Given the description of an element on the screen output the (x, y) to click on. 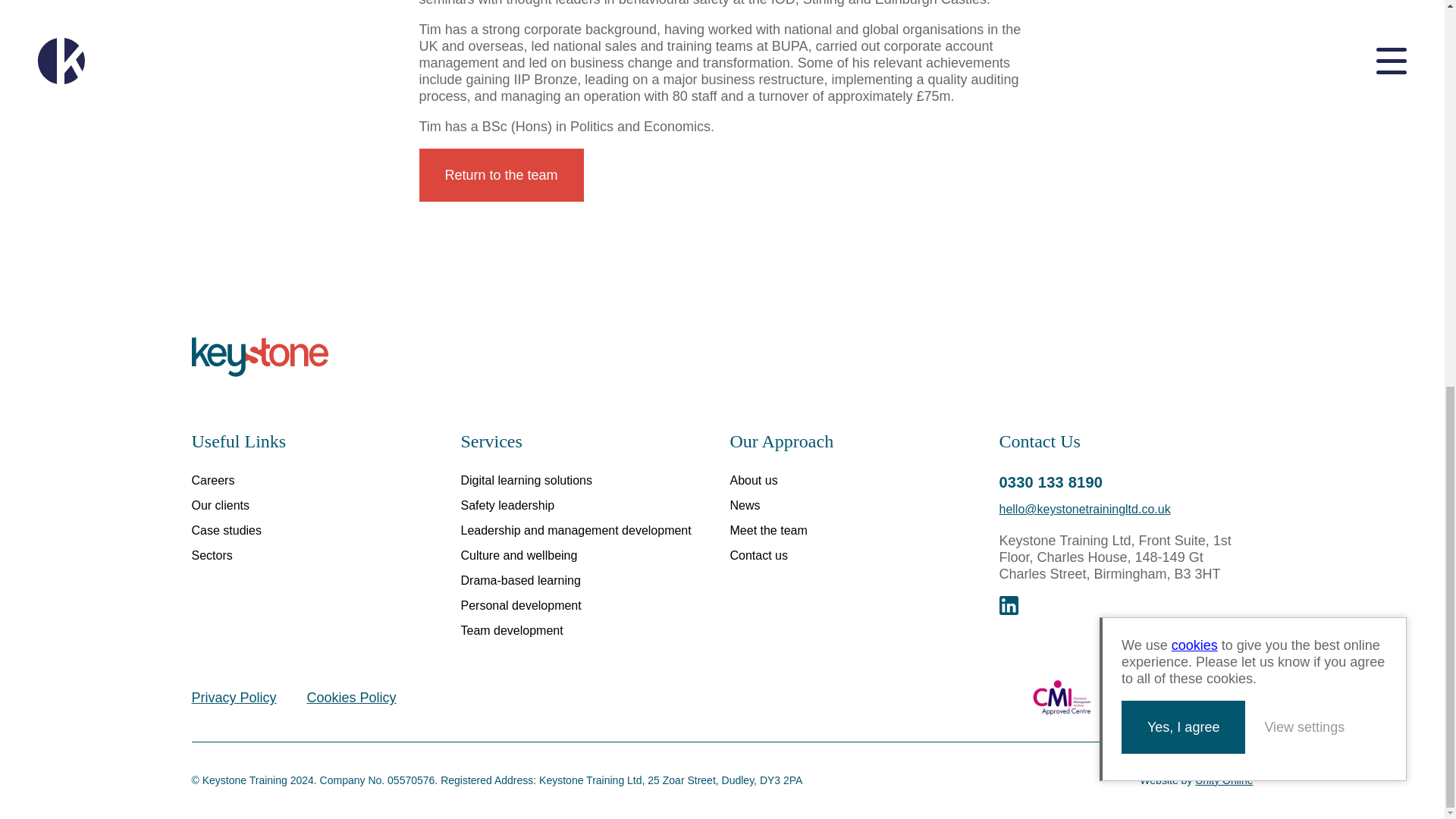
Keystone Training (258, 356)
Return to the team (501, 174)
Sectors (210, 554)
Careers (212, 480)
Safety leadership (507, 504)
Case studies (226, 530)
Our clients (219, 504)
Digital learning solutions (526, 480)
